Given the description of an element on the screen output the (x, y) to click on. 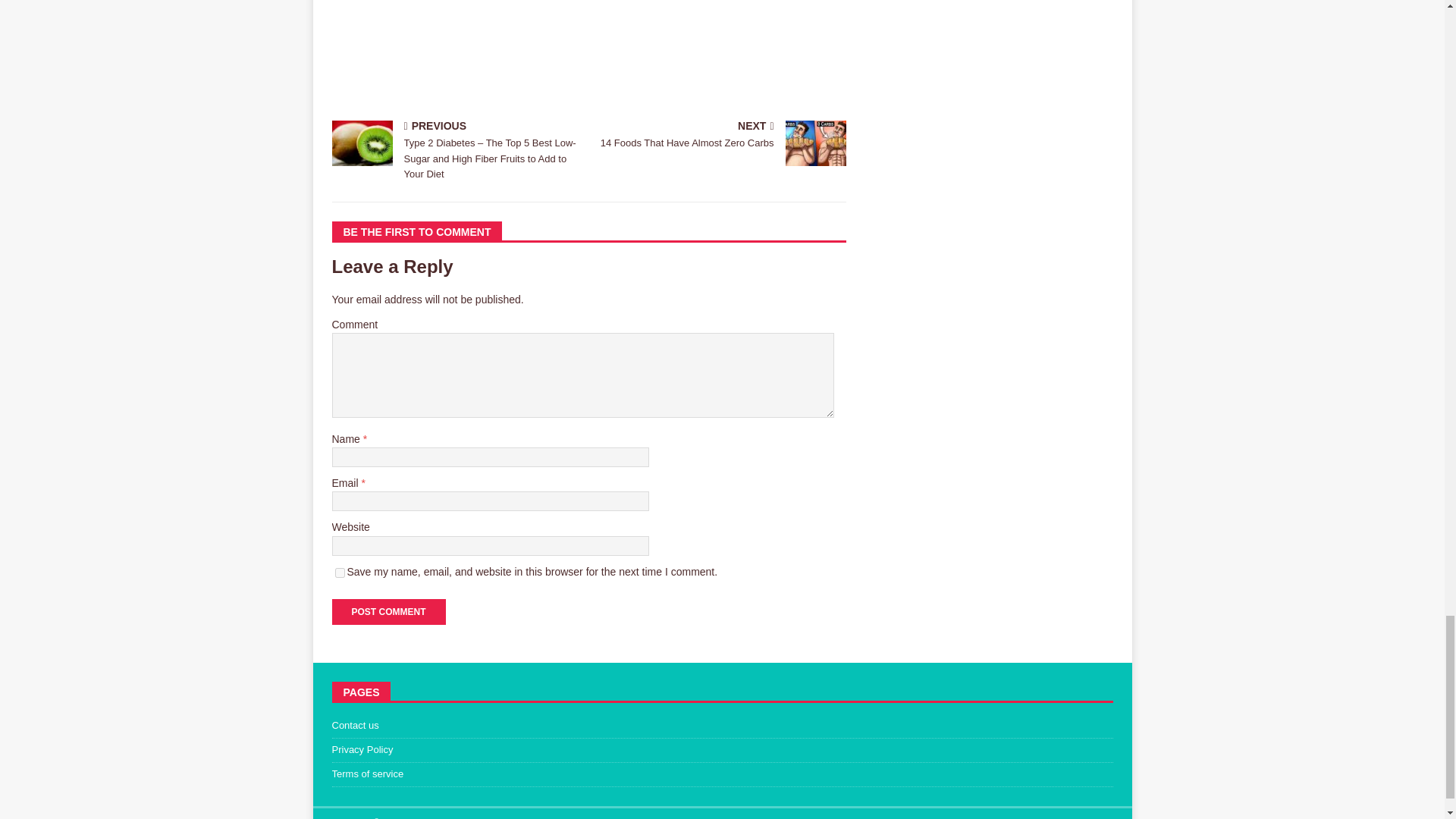
Privacy Policy (722, 750)
Contact us (722, 728)
Terms of service (722, 774)
Post Comment (388, 611)
yes (339, 573)
Post Comment (388, 611)
Advertisement (720, 135)
